Given the description of an element on the screen output the (x, y) to click on. 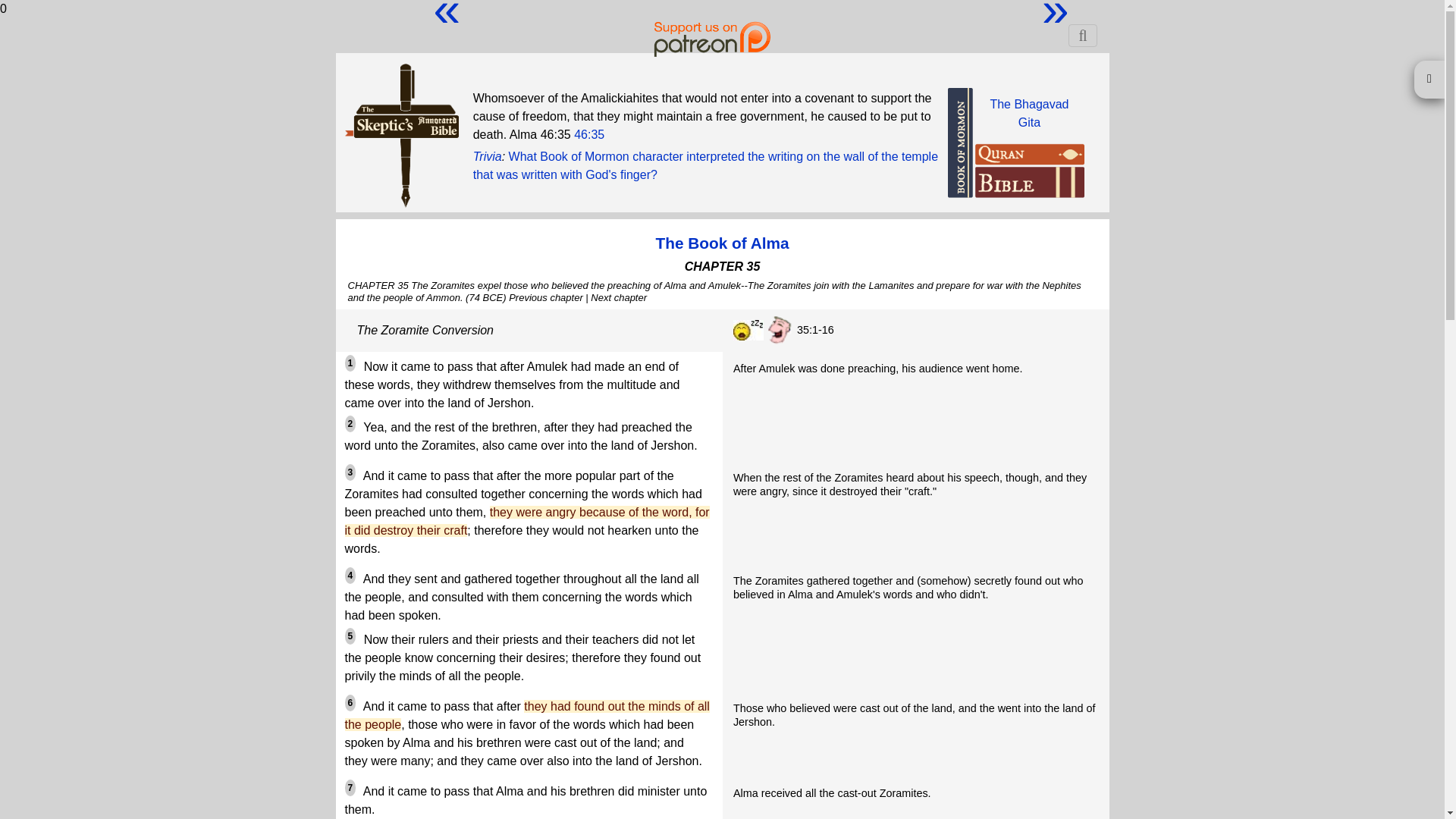
46:35 (588, 133)
Trivia (487, 155)
Absurdity (777, 330)
Alma Outline (722, 242)
